Given the description of an element on the screen output the (x, y) to click on. 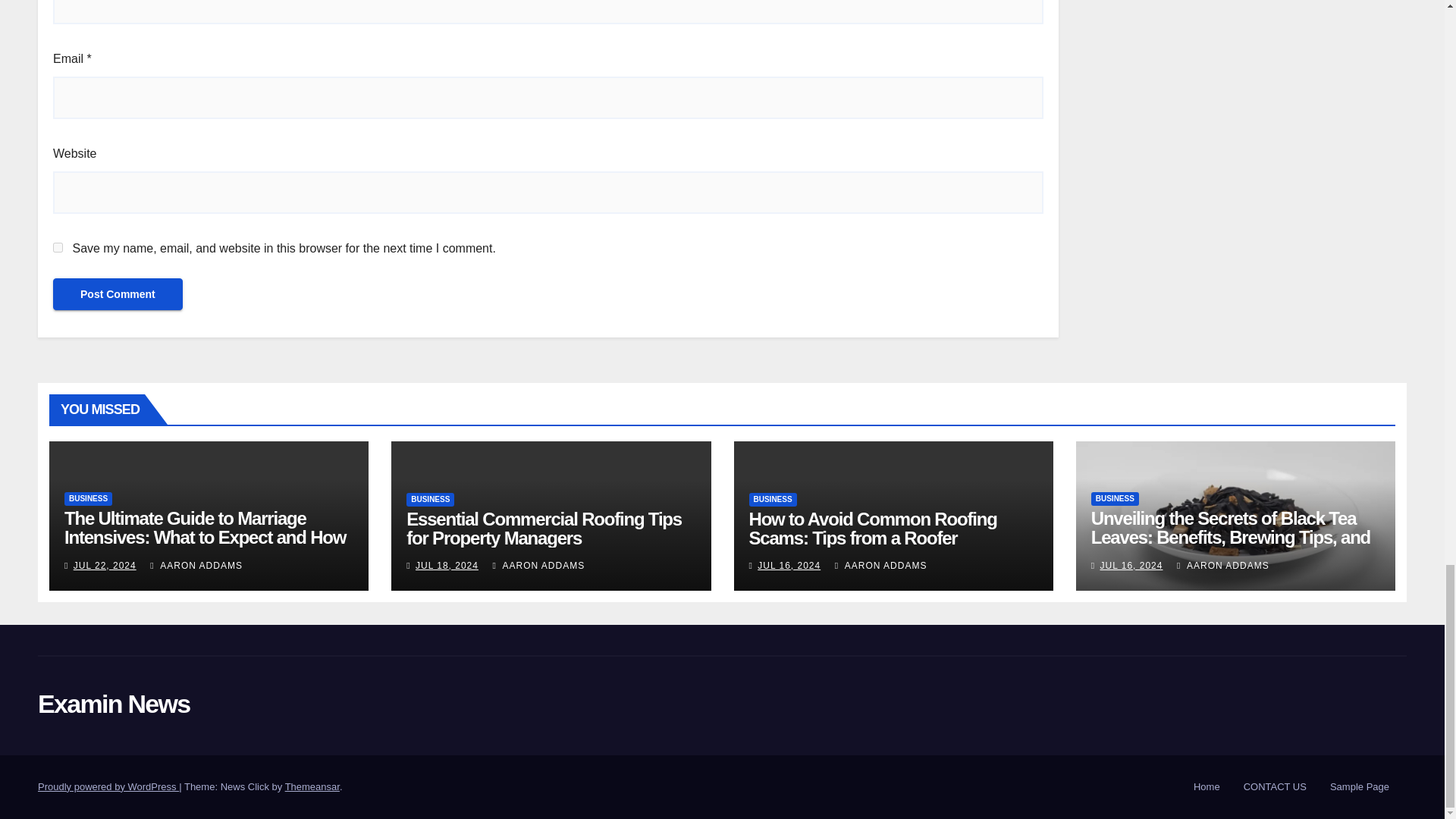
Post Comment (117, 293)
Home (1206, 786)
yes (57, 247)
